Given the description of an element on the screen output the (x, y) to click on. 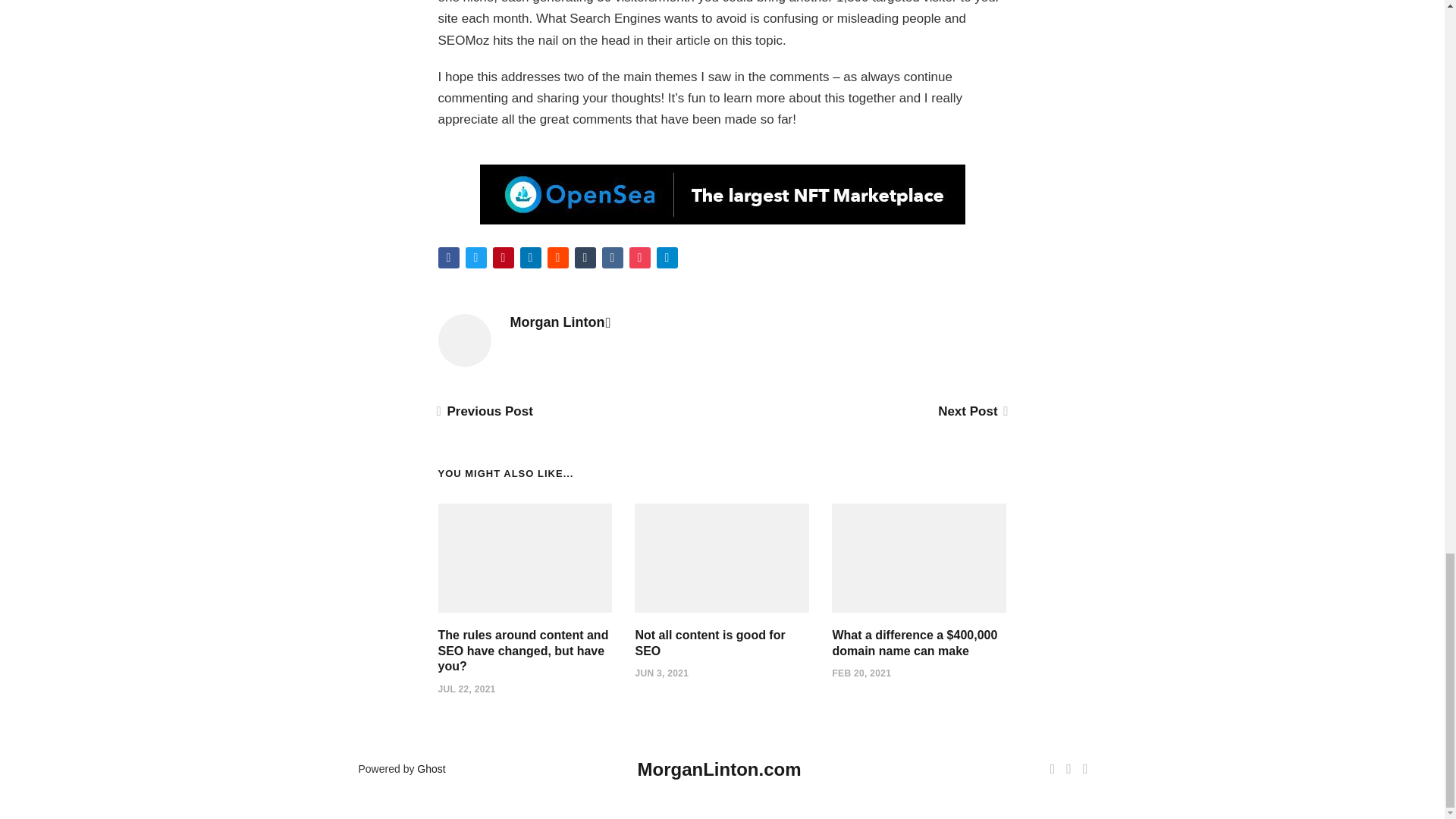
The rules around content and SEO have changed, but have you? (523, 650)
Previous Post (485, 411)
Next Post (971, 411)
Not all content is good for SEO (709, 642)
